Given the description of an element on the screen output the (x, y) to click on. 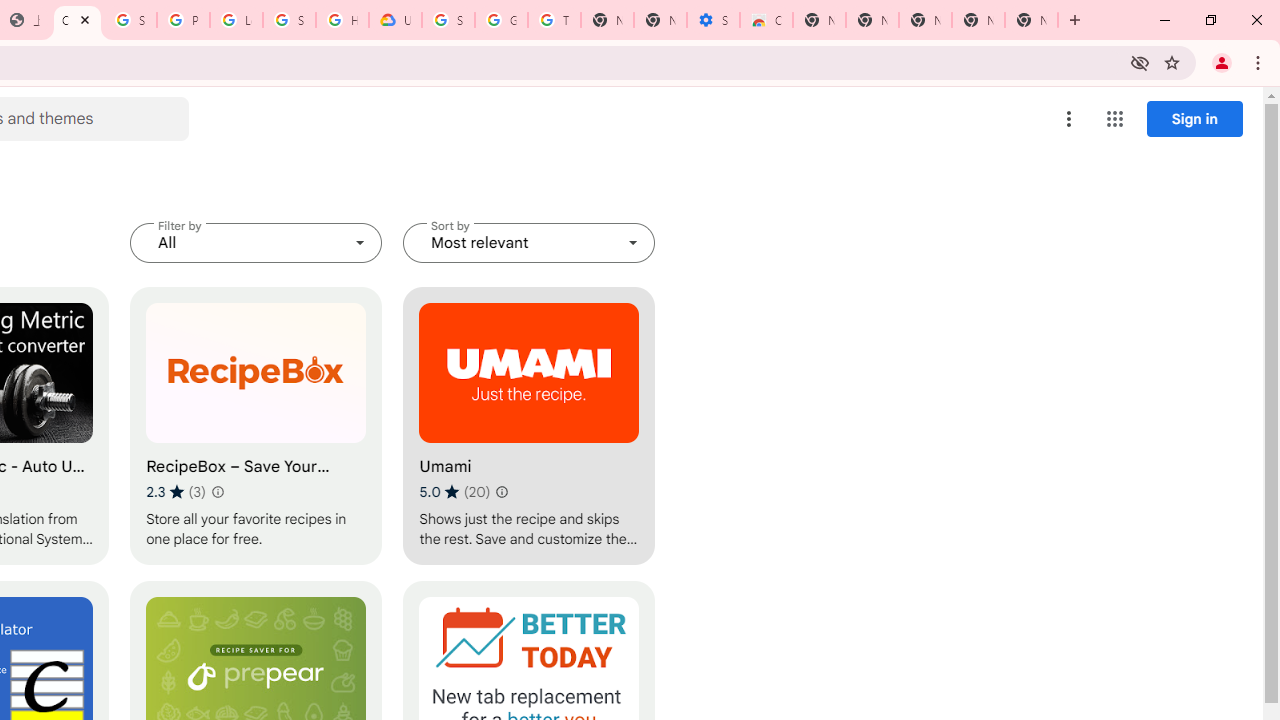
Umami (529, 426)
Chrome Web Store - Accessibility extensions (766, 20)
